Given the description of an element on the screen output the (x, y) to click on. 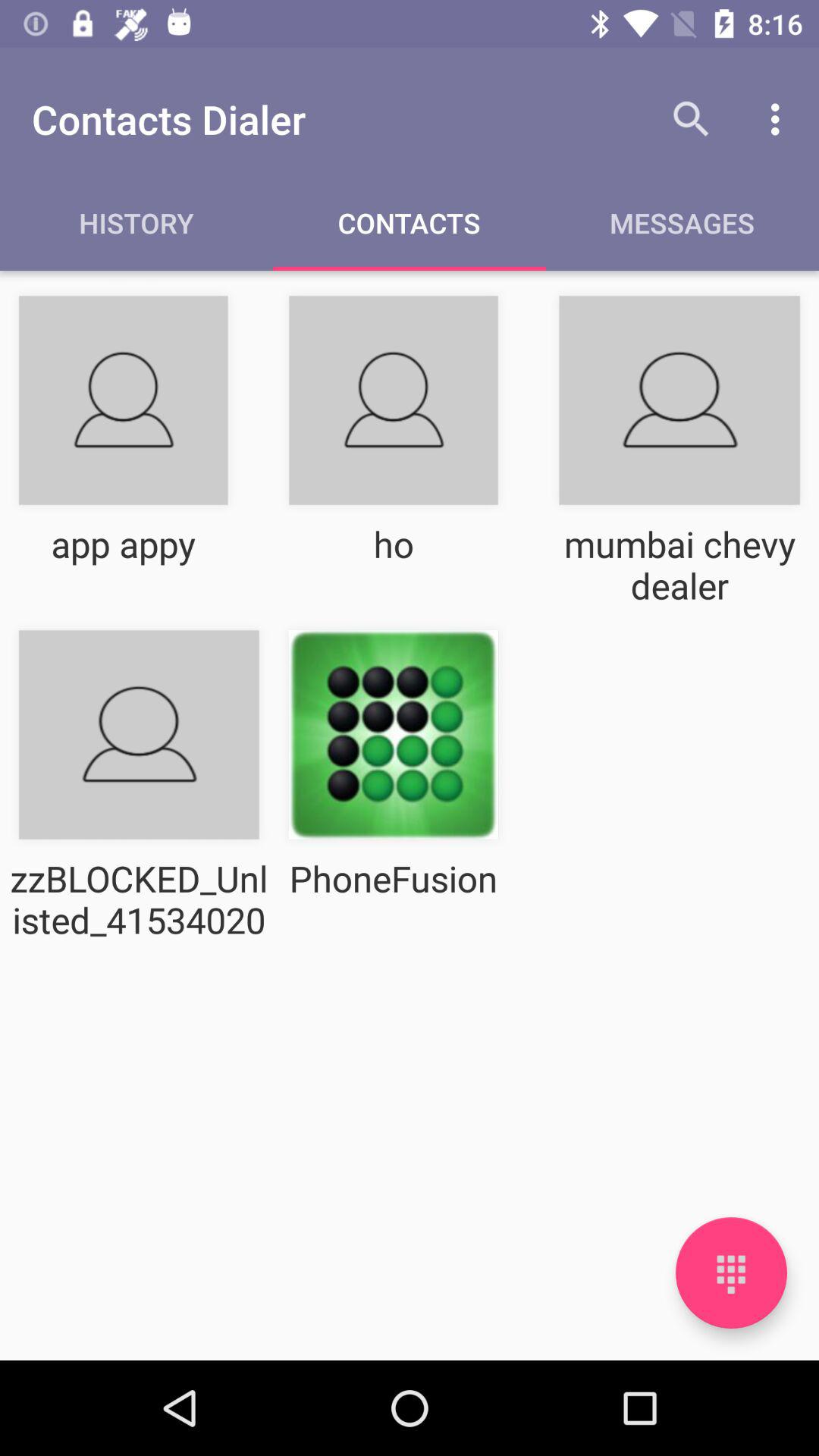
turn on icon below the mumbai chevy dealer icon (731, 1272)
